Given the description of an element on the screen output the (x, y) to click on. 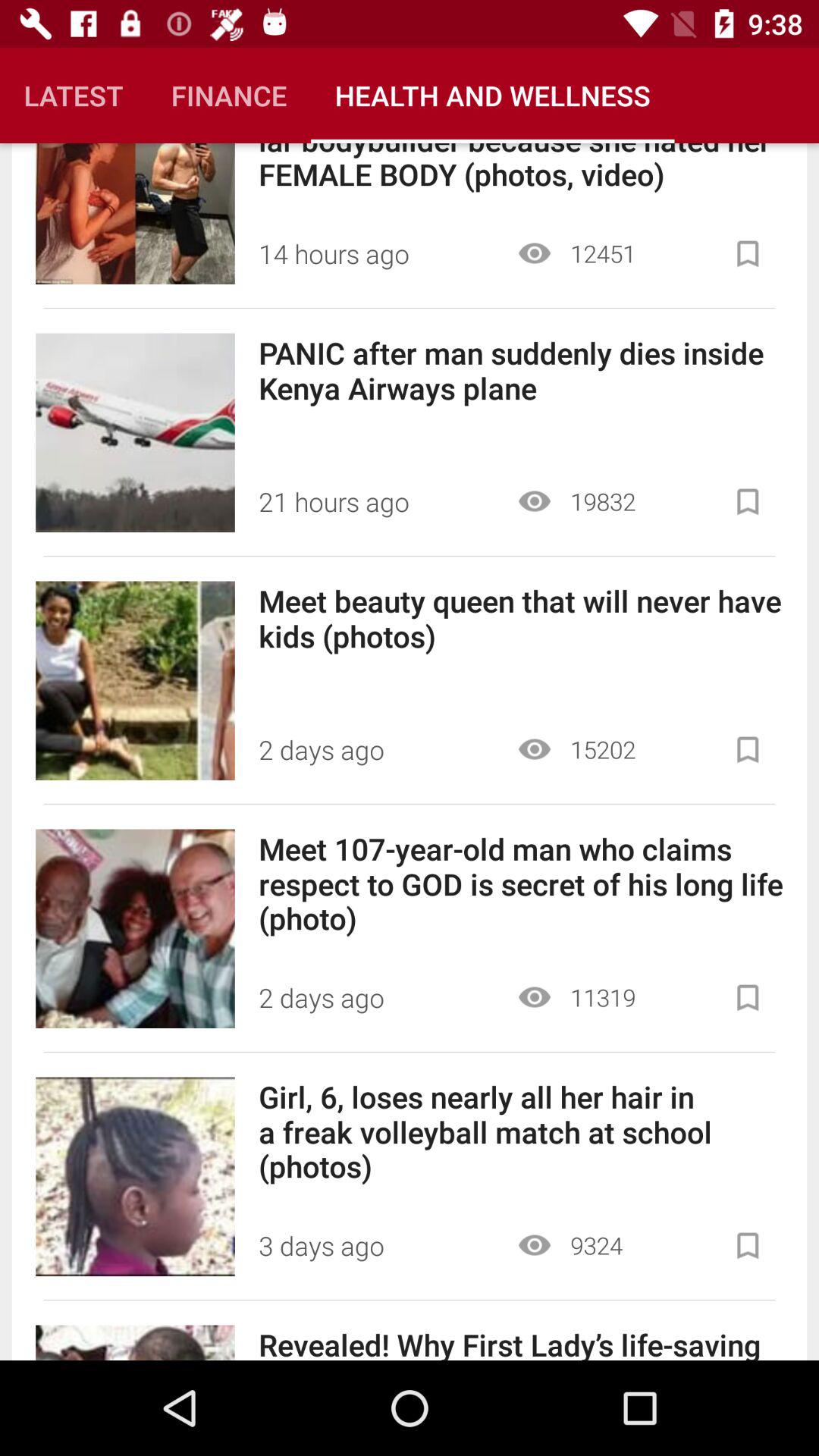
favorite the article (747, 749)
